Given the description of an element on the screen output the (x, y) to click on. 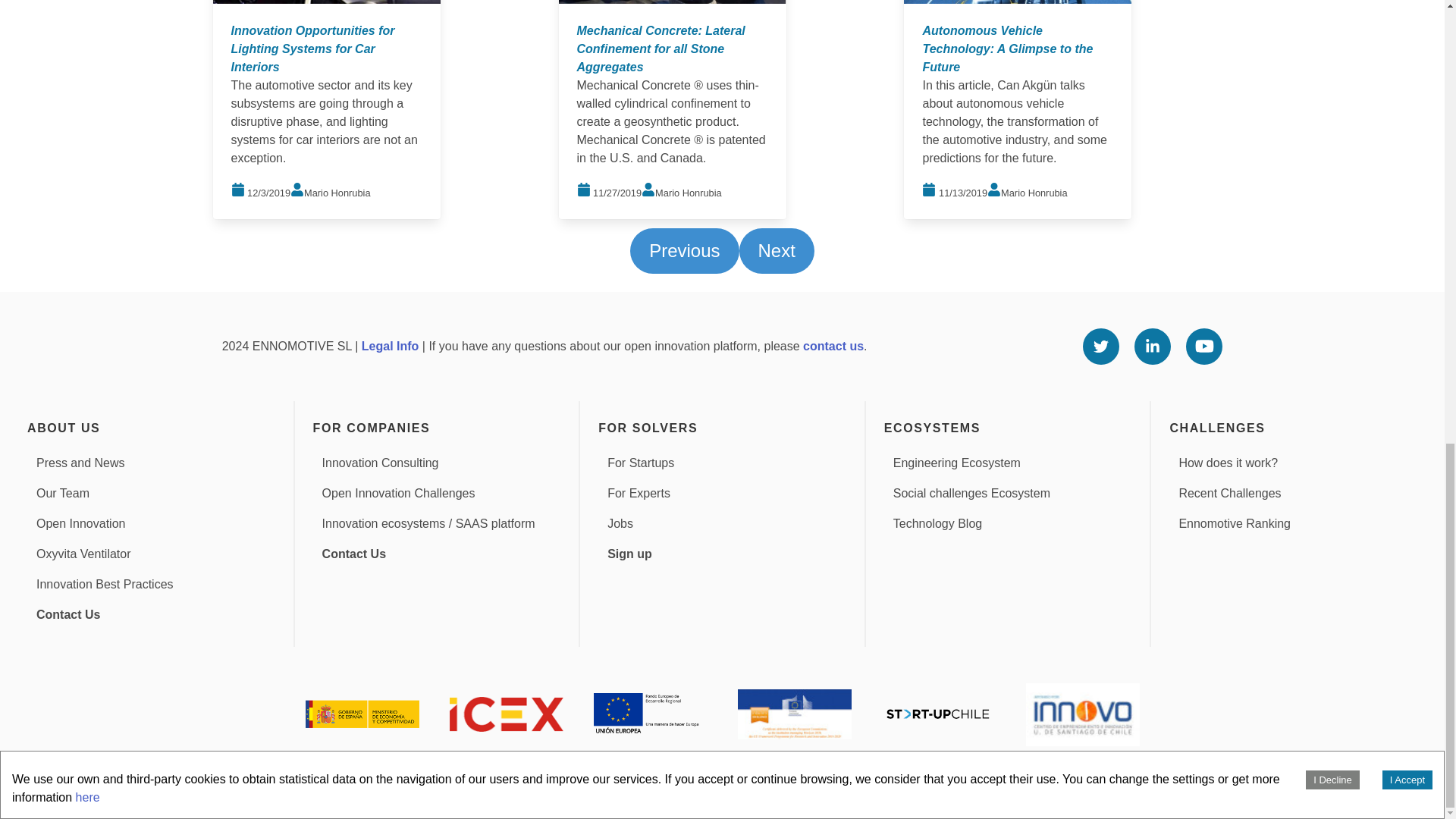
Previous (684, 250)
Next (775, 250)
Legal Info (390, 345)
Autonomous Vehicle Technology: A Glimpse to the Future (1007, 48)
